Given the description of an element on the screen output the (x, y) to click on. 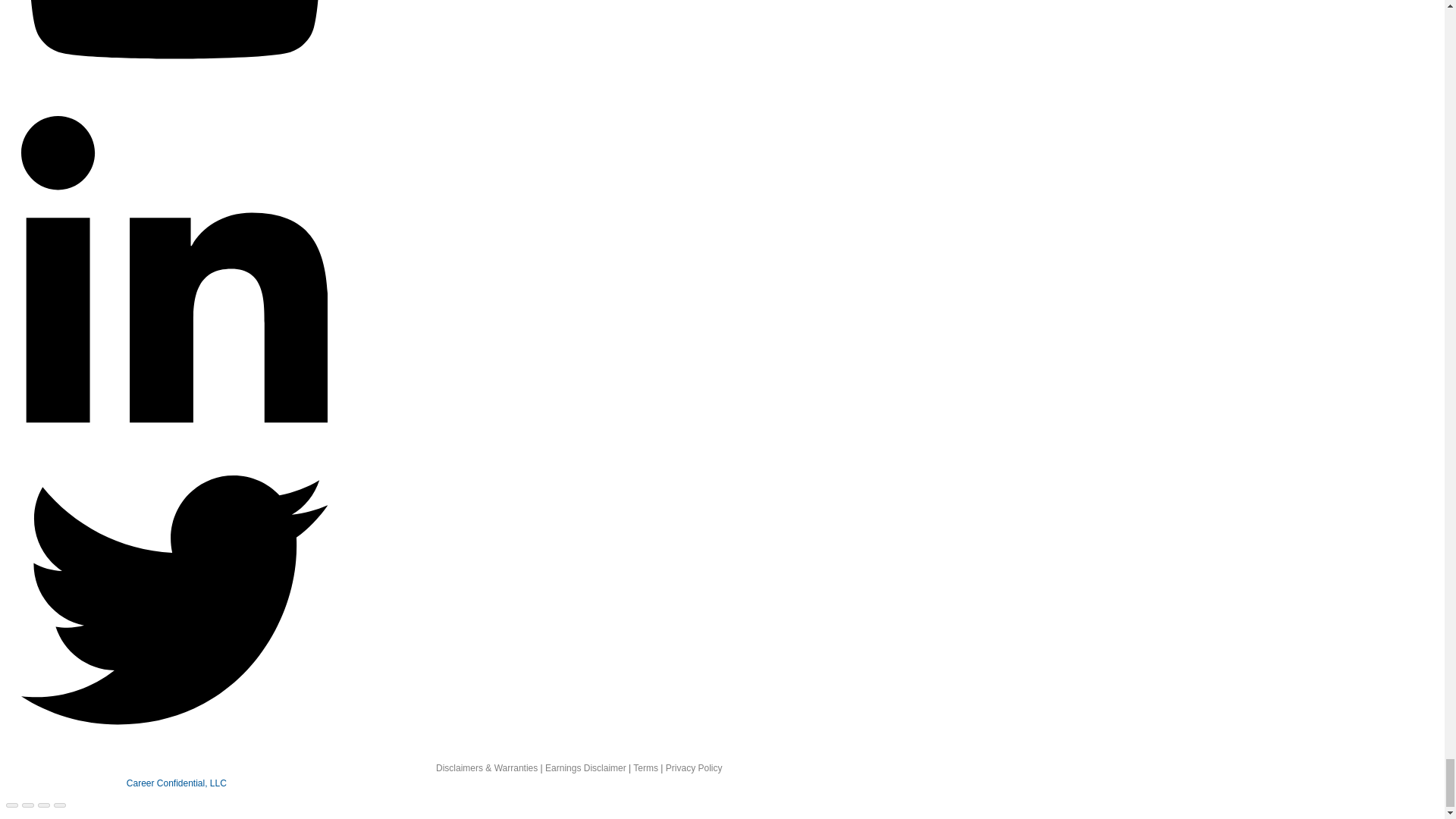
Share (27, 805)
Toggle fullscreen (43, 805)
